Given the description of an element on the screen output the (x, y) to click on. 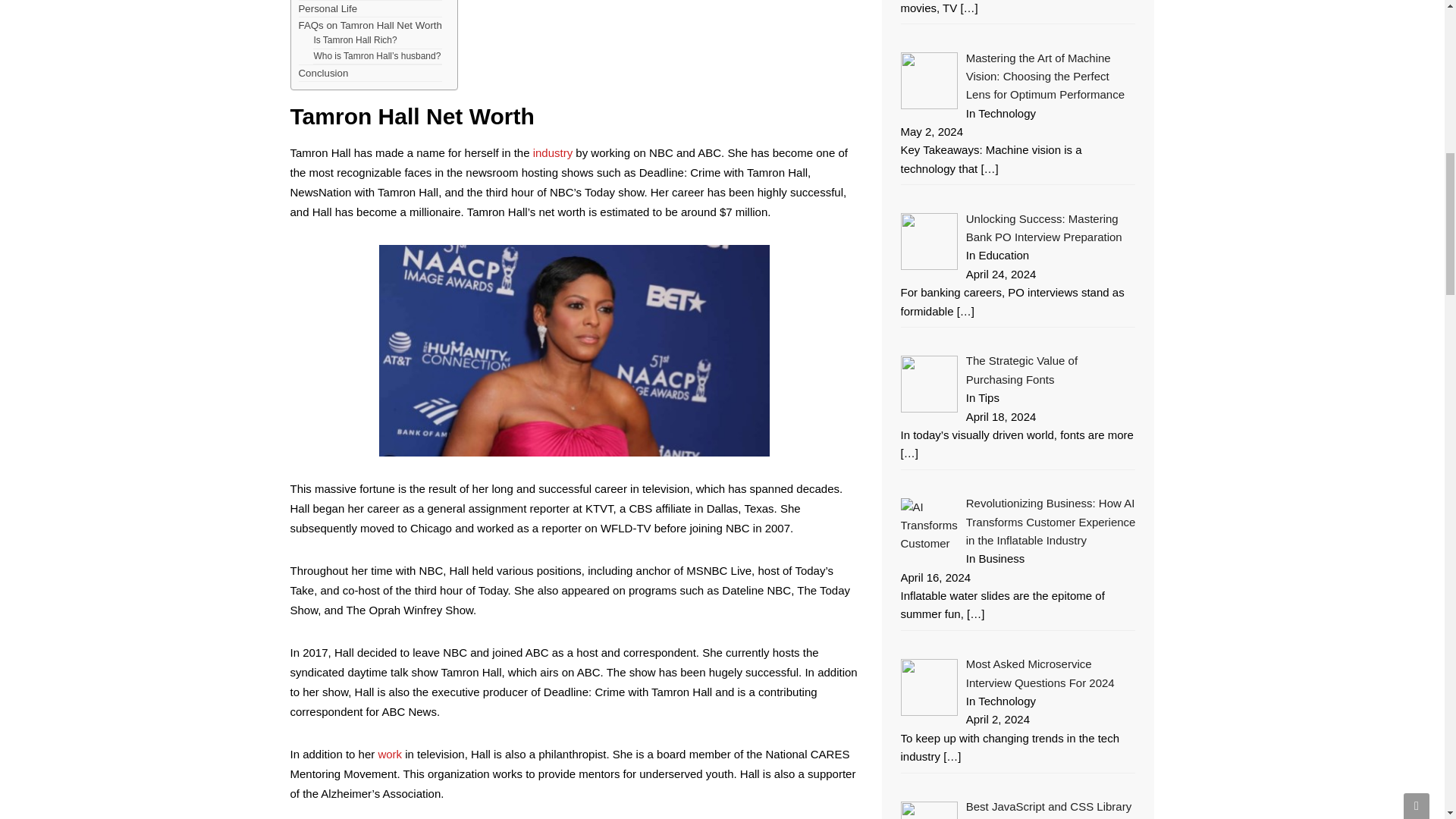
FAQs on Tamron Hall Net Worth (370, 25)
Conclusion (323, 73)
Personal Life (328, 8)
industry (552, 152)
FAQs on Tamron Hall Net Worth (370, 25)
Personal Life (328, 8)
Conclusion (323, 73)
Is Tamron Hall Rich? (354, 40)
Is Tamron Hall Rich? (354, 40)
work (389, 753)
